Given the description of an element on the screen output the (x, y) to click on. 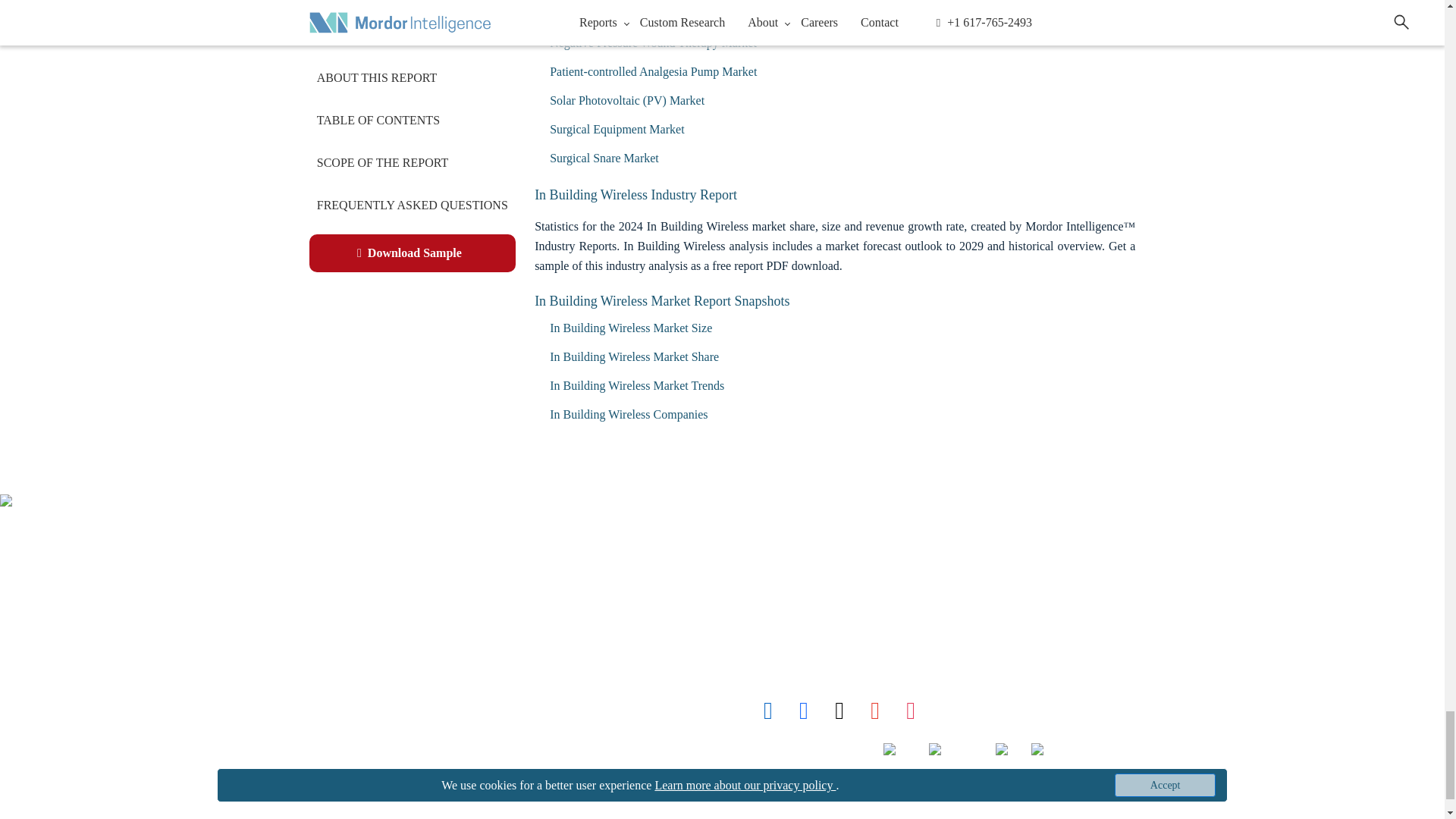
View our industry reports (327, 583)
Visit our homepage (323, 549)
Learn more about us (332, 616)
See who we've worked with (336, 683)
Explore more (351, 649)
View our HTML sitemap (330, 814)
View our XML sitemap (322, 783)
Learn about our privacy policy (344, 749)
